Given the description of an element on the screen output the (x, y) to click on. 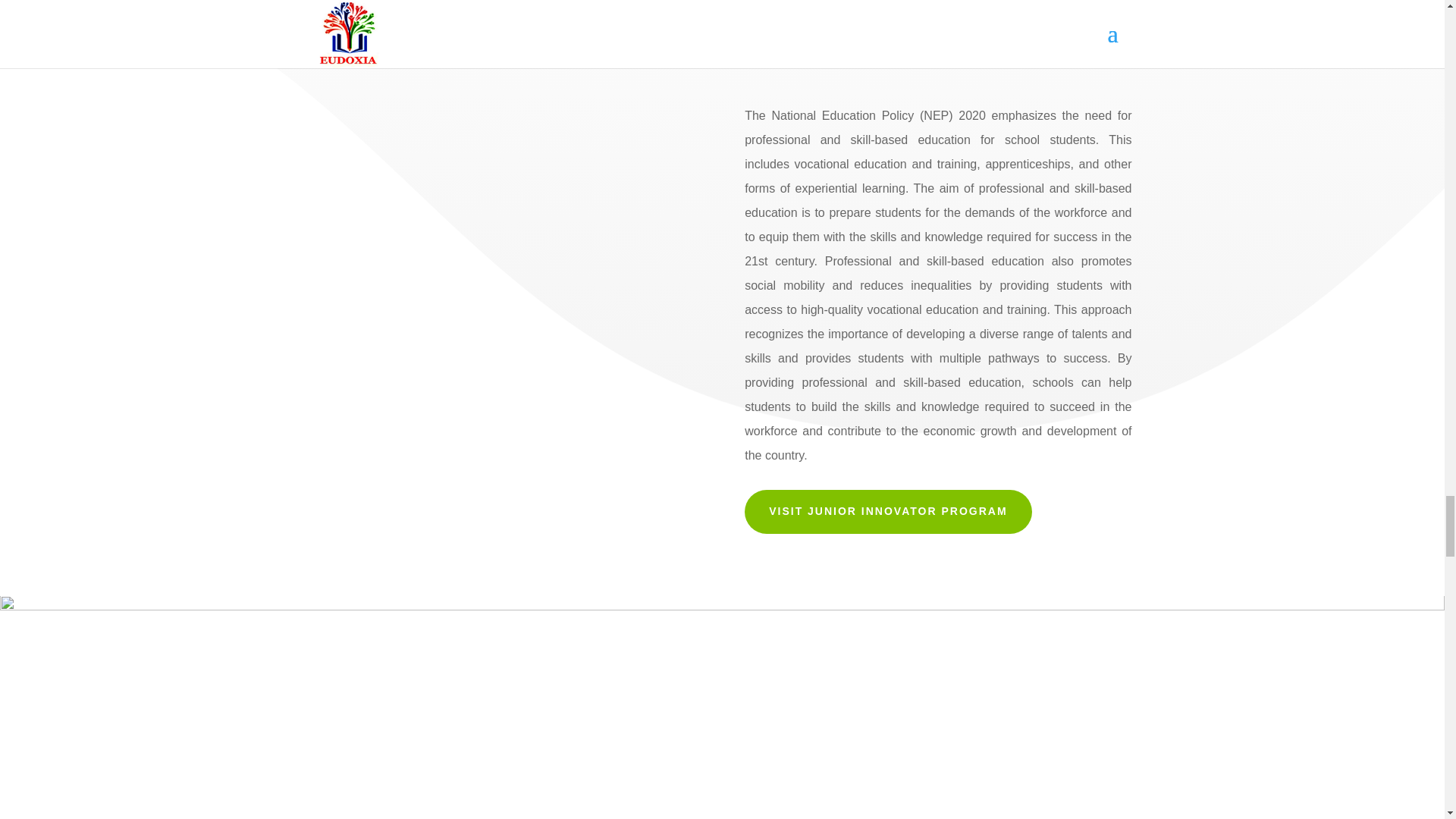
VISIT JUNIOR INNOVATOR PROGRAM (887, 511)
